Given the description of an element on the screen output the (x, y) to click on. 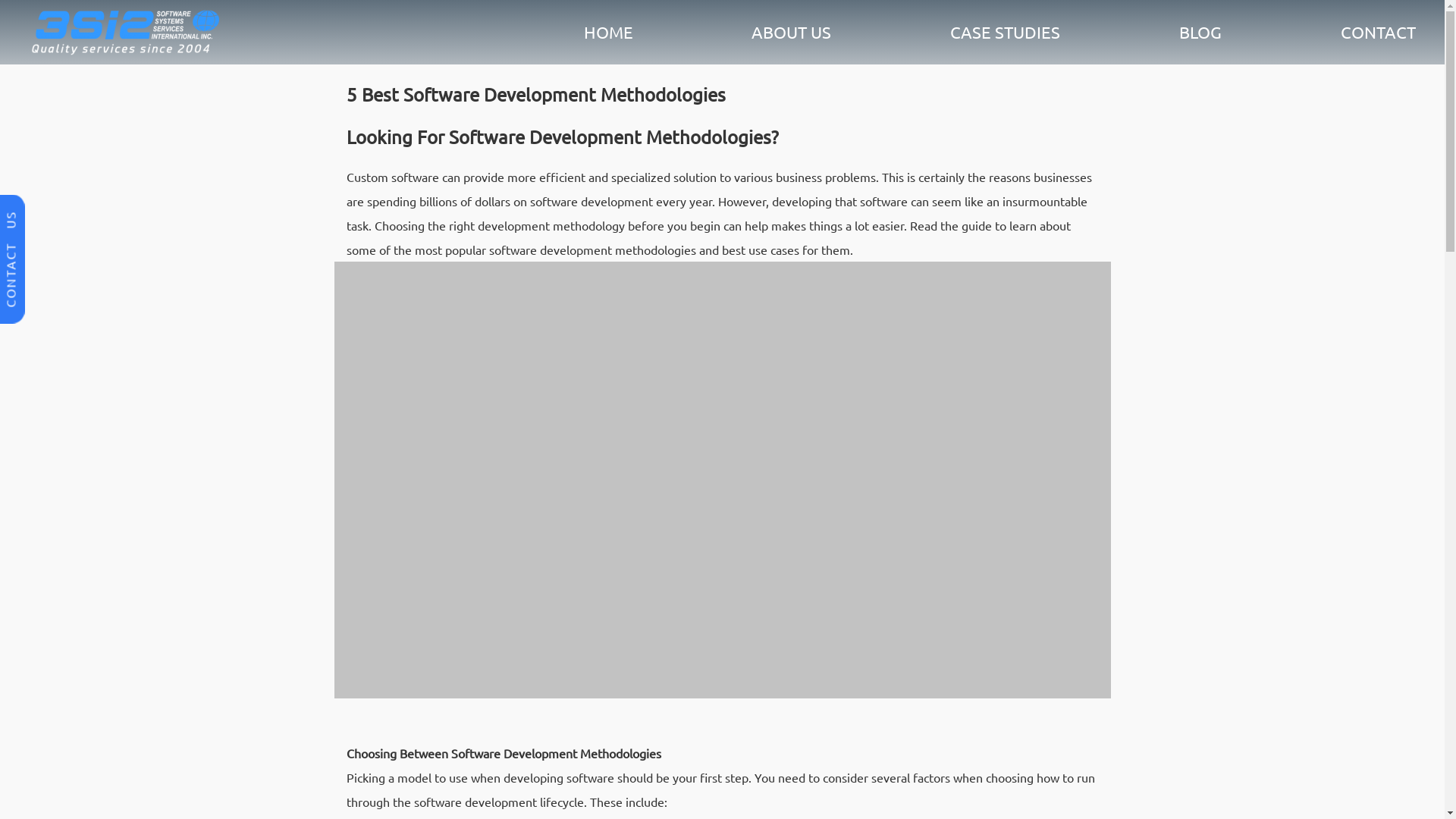
HOME Element type: text (608, 30)
CONTACT Element type: text (1377, 30)
BLOG Element type: text (1200, 30)
CASE STUDIES Element type: text (1005, 30)
ABOUT US Element type: text (791, 30)
YouTube video Element type: hover (721, 480)
